Given the description of an element on the screen output the (x, y) to click on. 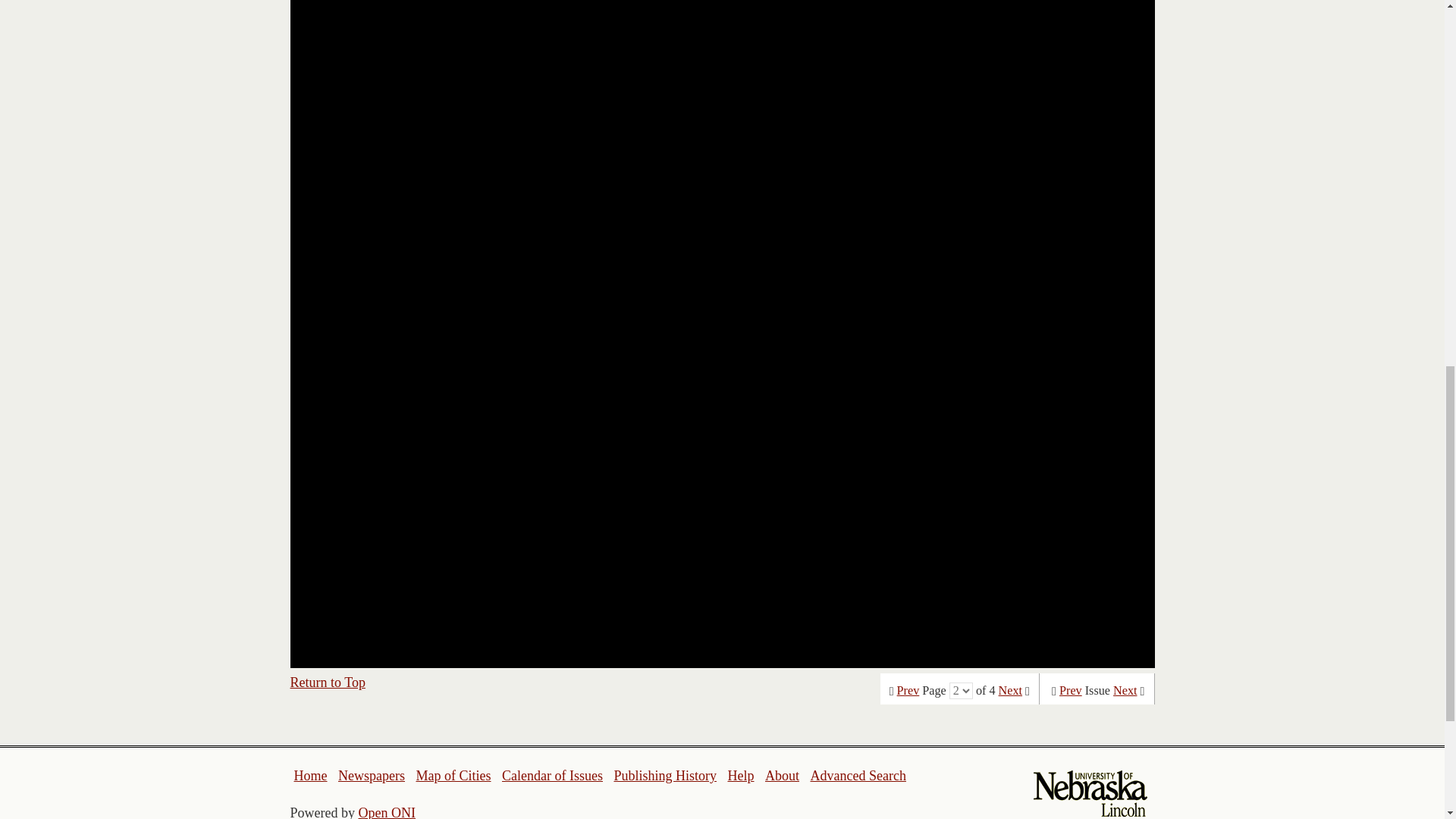
Return to Top (327, 682)
Publishing History (664, 775)
Newspapers (370, 775)
Open ONI (386, 812)
Prev (908, 690)
Calendar of Issues (552, 775)
Map of Cities (452, 775)
Next (1010, 690)
Advanced Search (857, 775)
Prev (1070, 690)
